Given the description of an element on the screen output the (x, y) to click on. 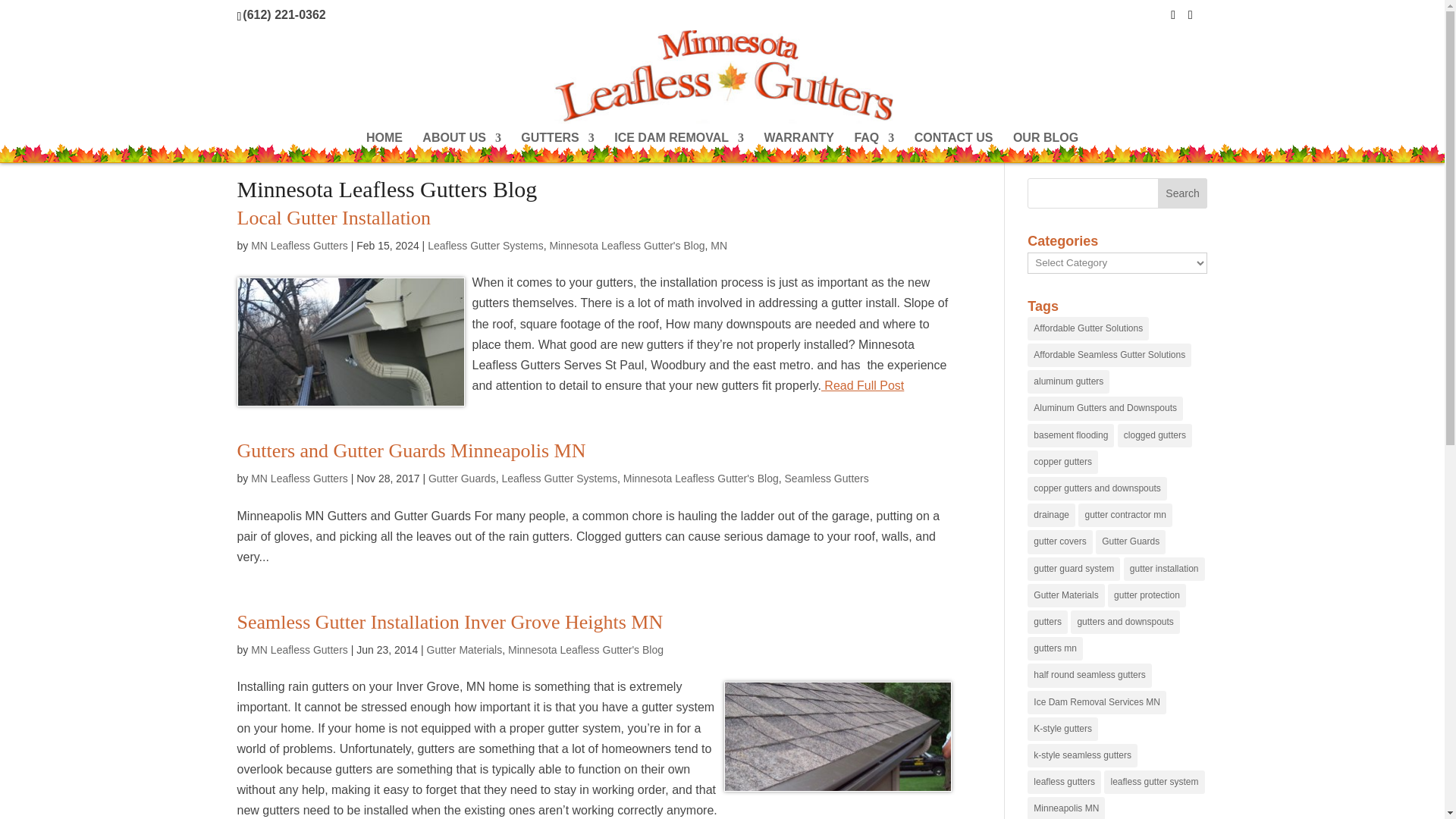
Gutter Materials (464, 649)
Posts by MN Leafless Gutters (298, 478)
MN Leafless Gutters (298, 478)
Seamless Gutters (826, 478)
OUR BLOG (1045, 147)
ICE DAM REMOVAL (679, 147)
ABOUT US (461, 147)
MN (718, 245)
CONTACT US (953, 147)
FAQ (873, 147)
Minnesota Leafless Gutter's Blog (626, 245)
Gutters and Gutter Guards Minneapolis MN (410, 450)
WARRANTY (799, 147)
Posts by MN Leafless Gutters (298, 245)
Minnesota Leafless Gutter's Blog (585, 649)
